Given the description of an element on the screen output the (x, y) to click on. 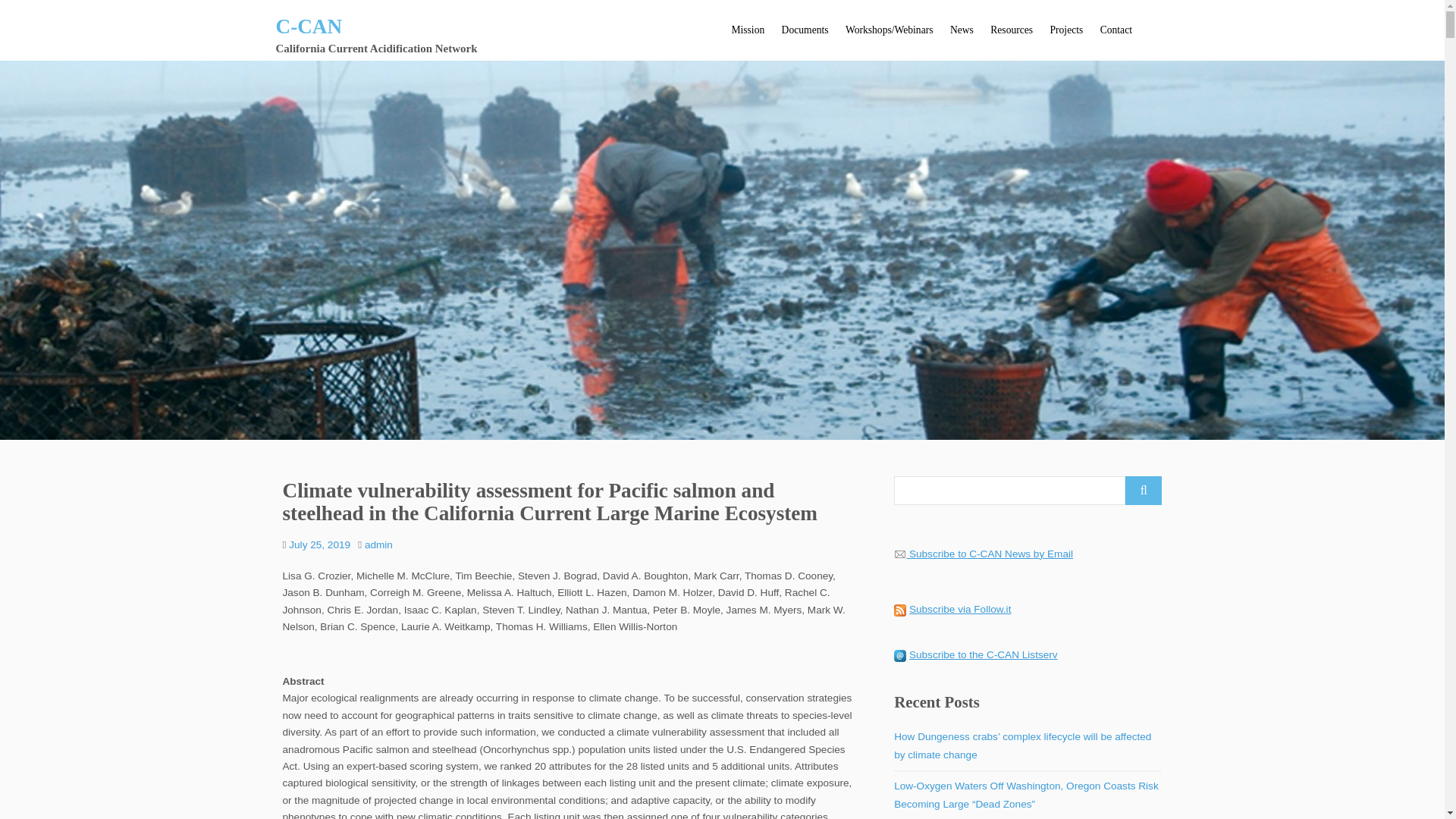
admin (379, 544)
Resources (1011, 30)
July 25, 2019 (319, 544)
Documents (804, 30)
C-CAN (309, 26)
C-CAN (309, 26)
